Given the description of an element on the screen output the (x, y) to click on. 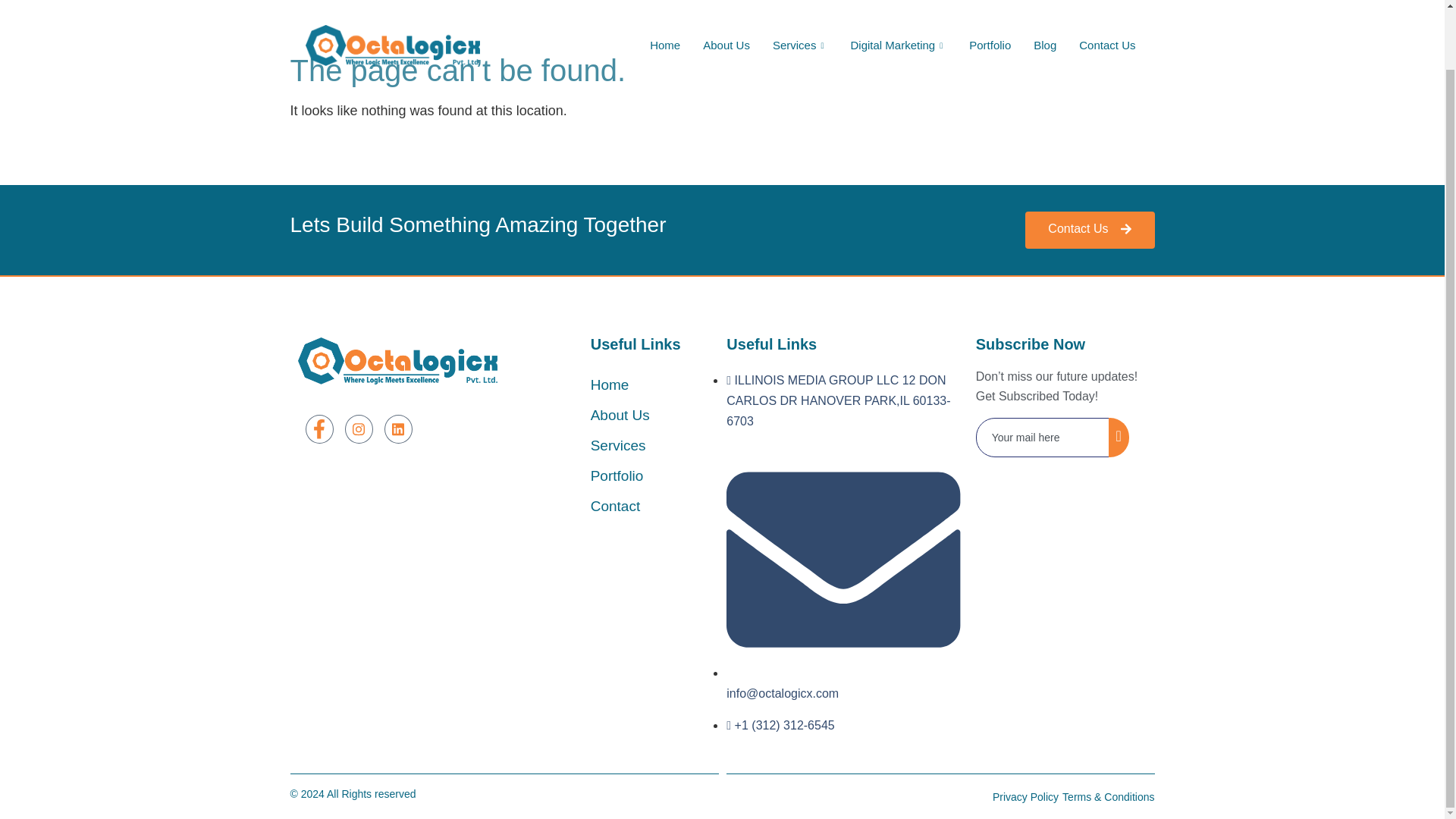
Digital Marketing (898, 3)
Blog (1044, 3)
Portfolio (990, 3)
Contact Us (1107, 3)
About Us (726, 3)
Home (665, 3)
Services (800, 3)
